Given the description of an element on the screen output the (x, y) to click on. 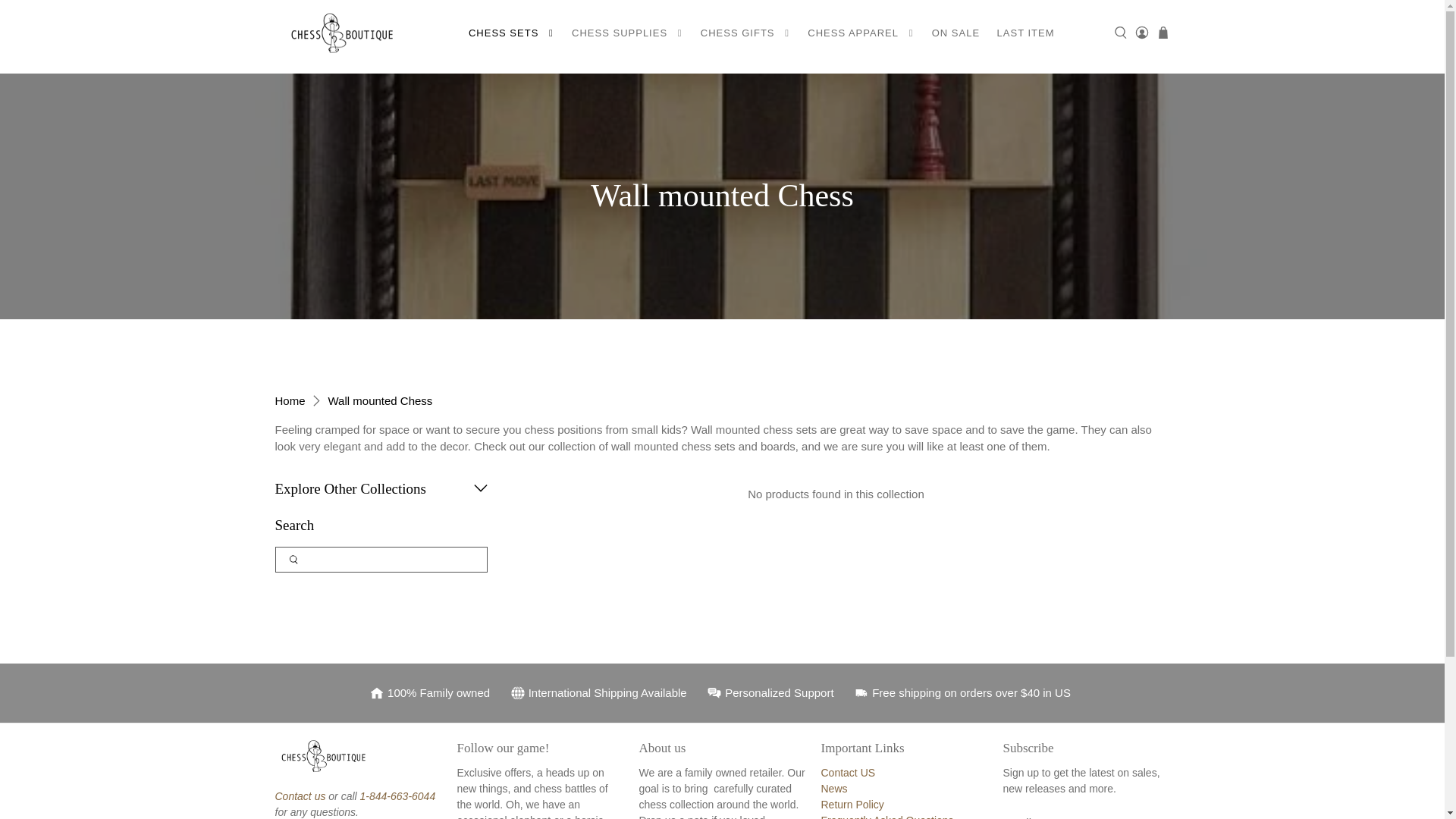
ON SALE (955, 33)
Wall mounted Chess (380, 400)
CHESS SETS (511, 33)
Chess Boutique (289, 400)
LAST ITEM (1025, 33)
CHESS APPAREL (861, 33)
CHESS GIFTS (746, 33)
CHESS SUPPLIES (628, 33)
Chess Boutique (343, 32)
